Given the description of an element on the screen output the (x, y) to click on. 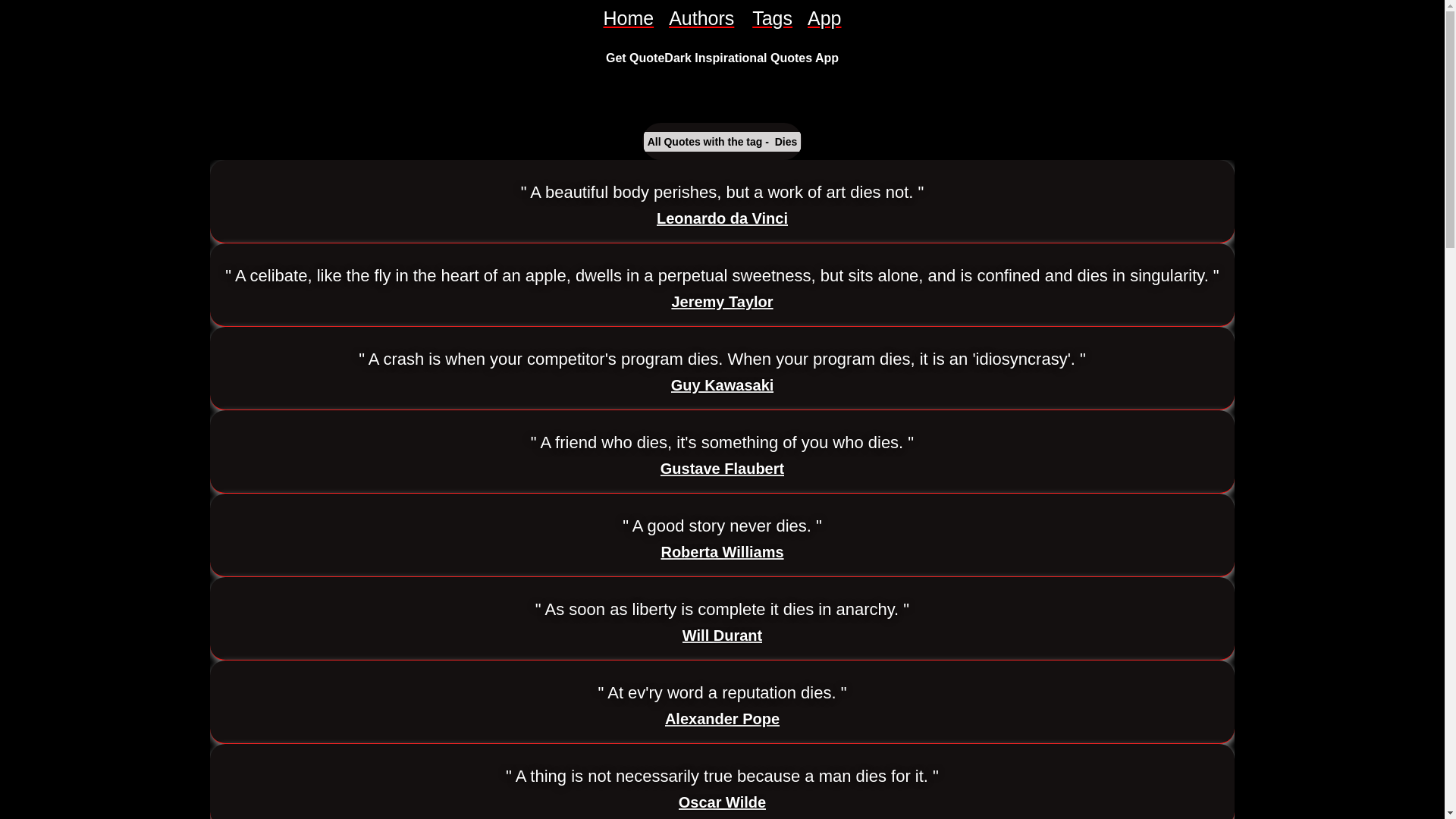
Leonardo da Vinci (721, 218)
" A beautiful body perishes, but a work of art dies not. " (722, 192)
Home (627, 18)
Alexander Pope (721, 719)
" A good story never dies. " (722, 526)
Oscar Wilde (721, 802)
" As soon as liberty is complete it dies in anarchy. " (721, 609)
Authors  (702, 18)
Will Durant (721, 635)
